Given the description of an element on the screen output the (x, y) to click on. 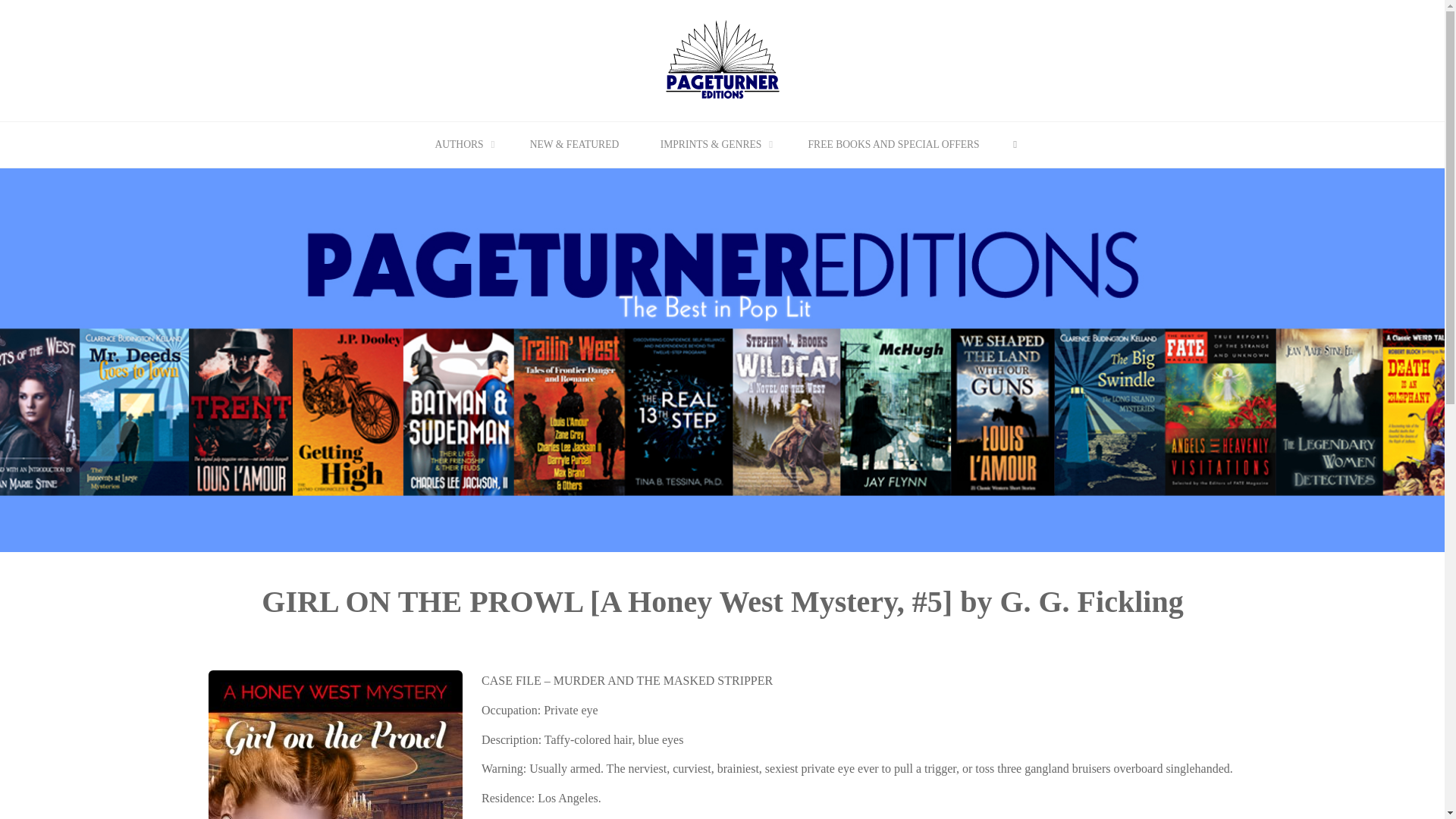
Pageturner Editions (722, 59)
